Given the description of an element on the screen output the (x, y) to click on. 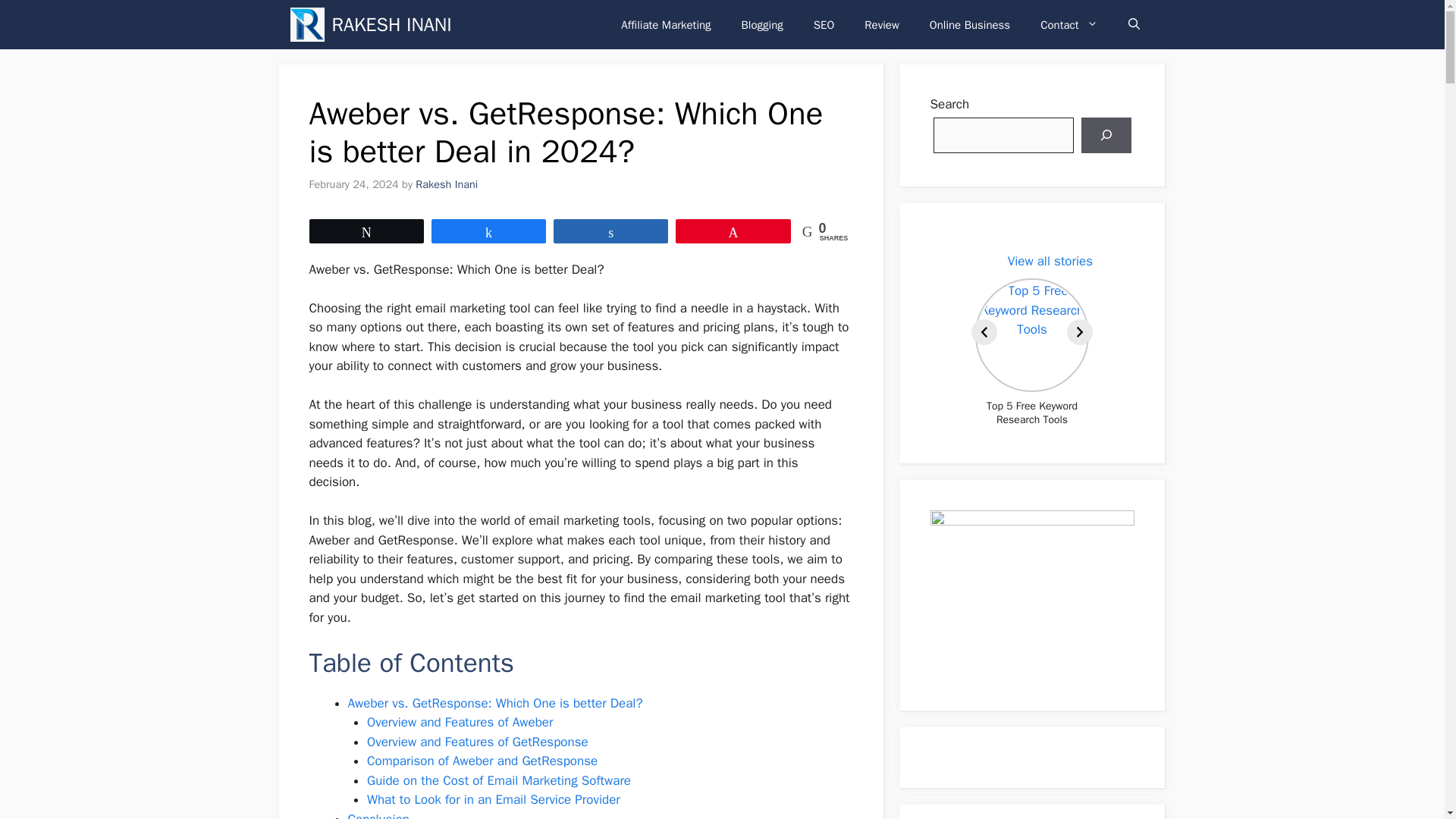
Comparison of Aweber and GetResponse (481, 760)
Contact (1068, 23)
Rakesh Inani (445, 183)
Review (881, 23)
What to Look for in an Email Service Provider (493, 799)
Affiliate Marketing (665, 23)
Conclusion (378, 815)
RAKESH INANI (391, 24)
SEO (823, 23)
Aweber vs. GetResponse: Which One is better Deal? (494, 703)
Blogging (761, 23)
Overview and Features of GetResponse (477, 741)
Overview and Features of Aweber (459, 722)
Guide on the Cost of Email Marketing Software (498, 780)
Online Business (969, 23)
